Given the description of an element on the screen output the (x, y) to click on. 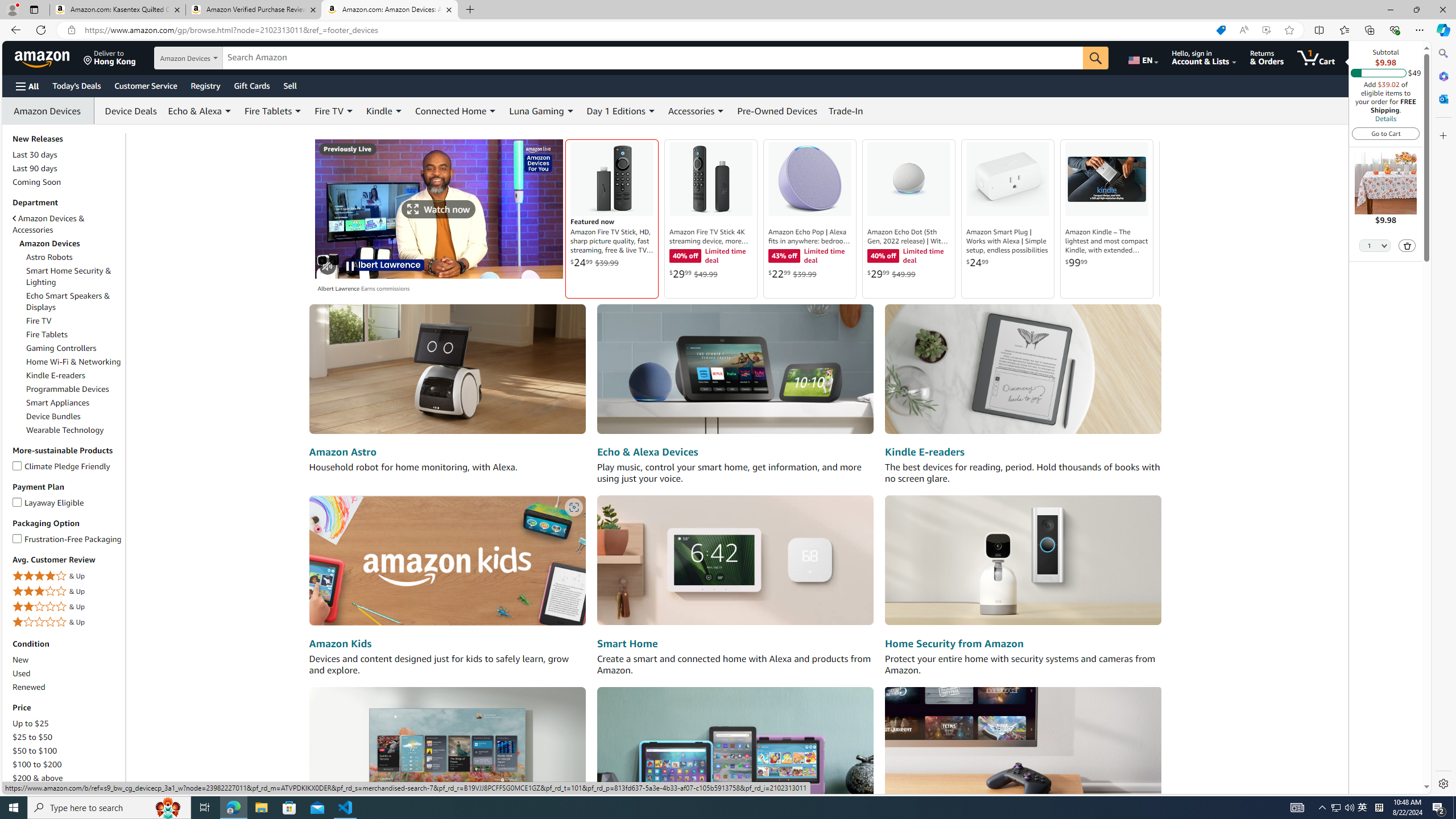
Quantity Selector (1374, 245)
Accessories (691, 110)
Customer Service (145, 85)
Echo Smart Speakers & Displays (74, 300)
Pause (349, 265)
Amazon Devices (49, 110)
Fire TV devices (447, 751)
Delete (1407, 245)
Pre-Owned Devices (776, 110)
Amazon Astro (447, 369)
Last 30 days (34, 154)
